Given the description of an element on the screen output the (x, y) to click on. 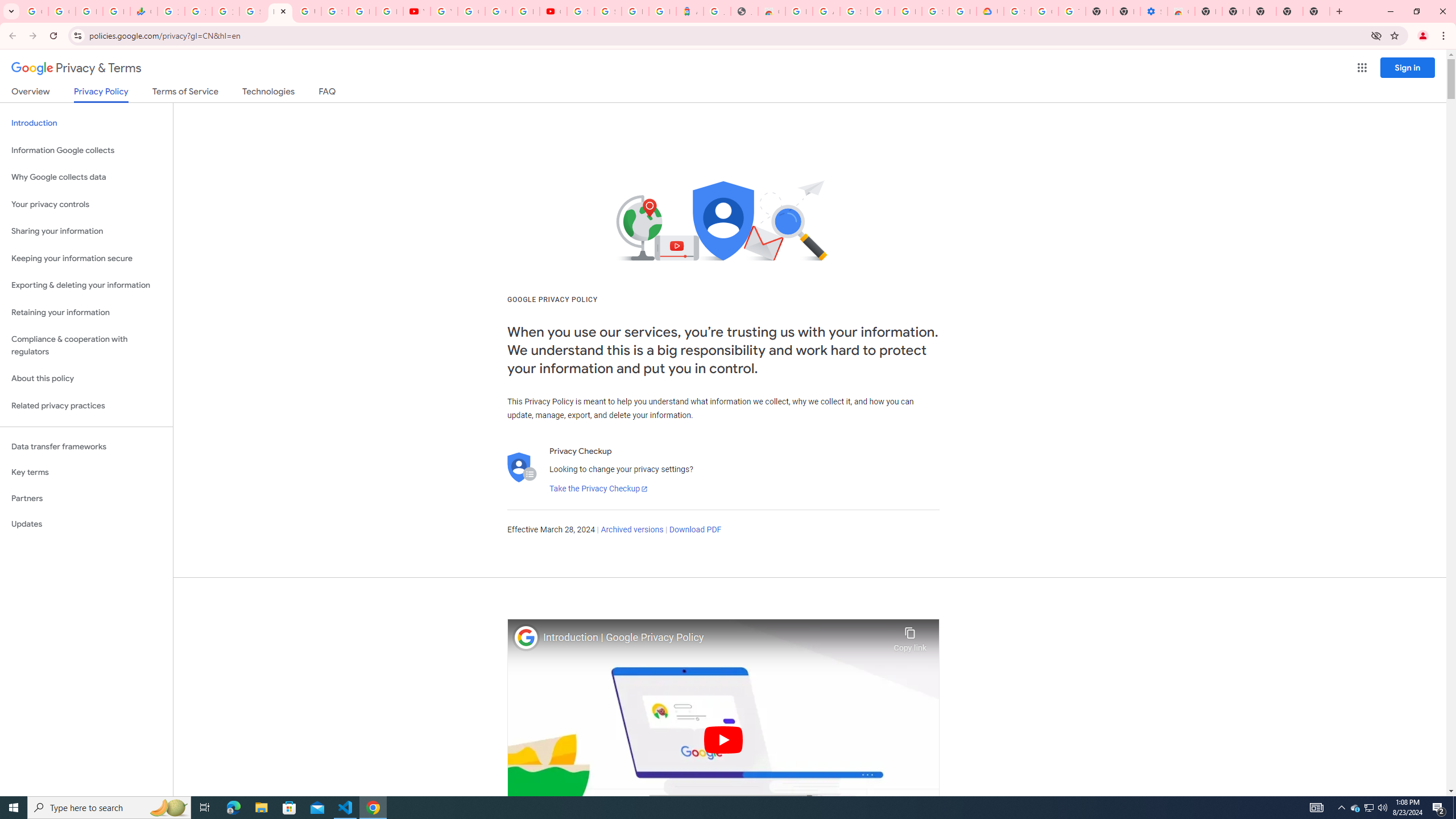
Take the Privacy Checkup (597, 488)
Download PDF (695, 529)
Copy link (909, 636)
Sign in - Google Accounts (253, 11)
Sign in - Google Accounts (853, 11)
